Given the description of an element on the screen output the (x, y) to click on. 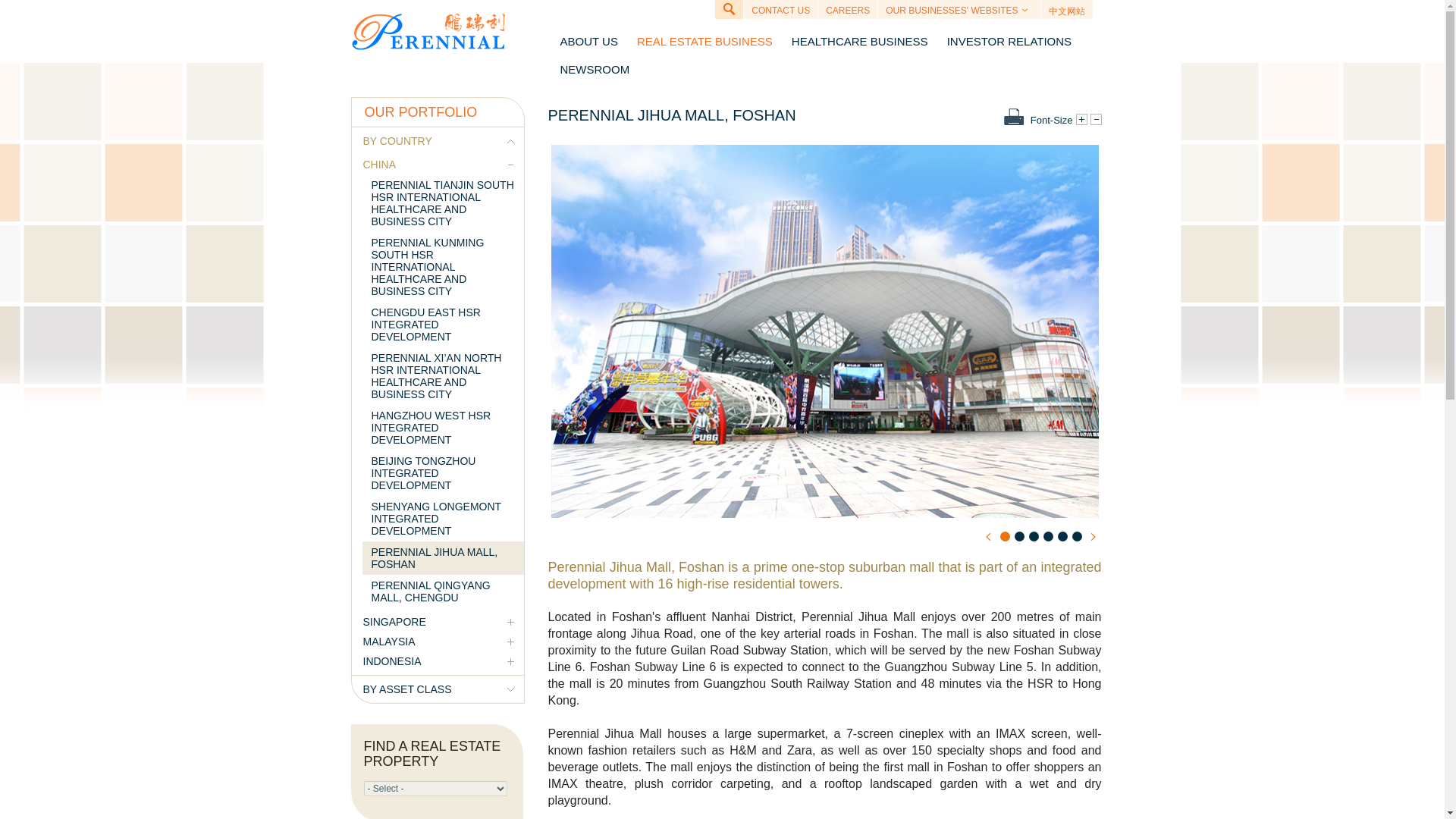
OUR BUSINESSES' WEBSITES (958, 10)
CAREERS (847, 10)
CONTACT US (780, 10)
